Given the description of an element on the screen output the (x, y) to click on. 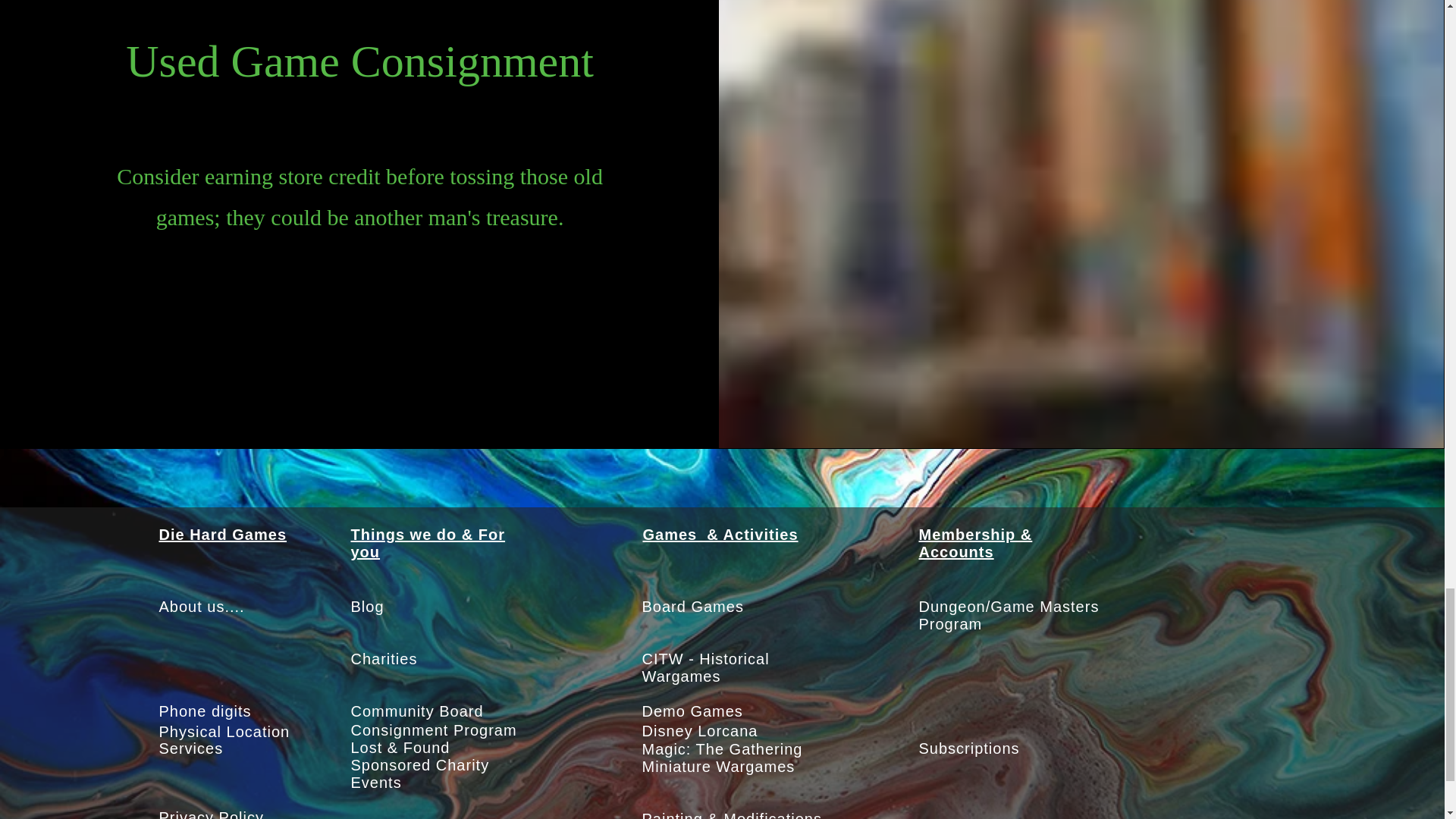
Disney Lorcana (699, 730)
About us.... (201, 606)
Phone digits (204, 710)
Blog (367, 606)
Board Games (692, 606)
Community Board (416, 710)
Charities (383, 658)
Miniature Wargames (718, 766)
Physical Location (223, 731)
CITW - Historical Wargames (705, 667)
Sponsored Charity Events (419, 773)
Magic: The Gathering (722, 749)
Consignment Program (433, 729)
